Given the description of an element on the screen output the (x, y) to click on. 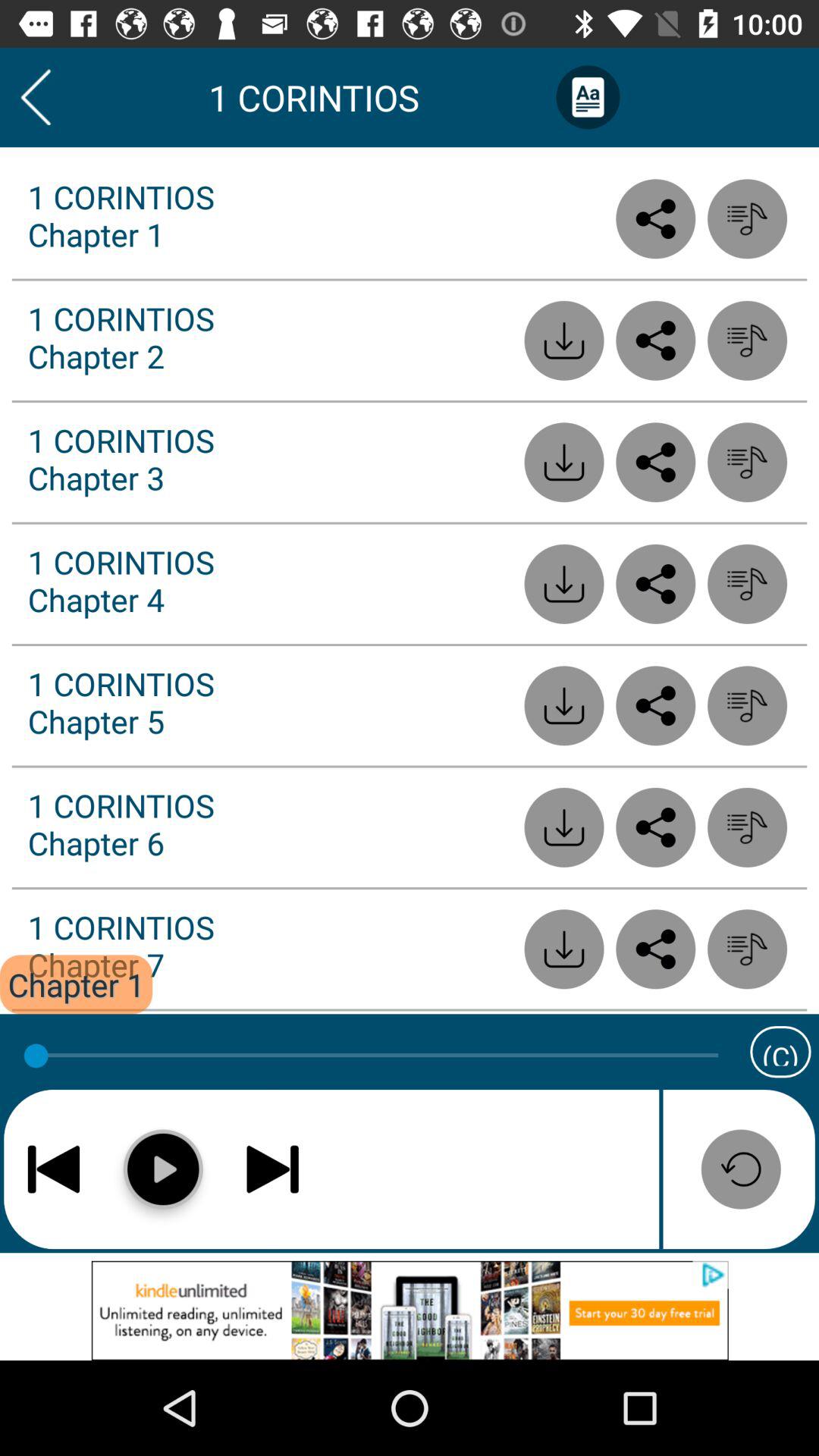
share the chapter (655, 340)
